Given the description of an element on the screen output the (x, y) to click on. 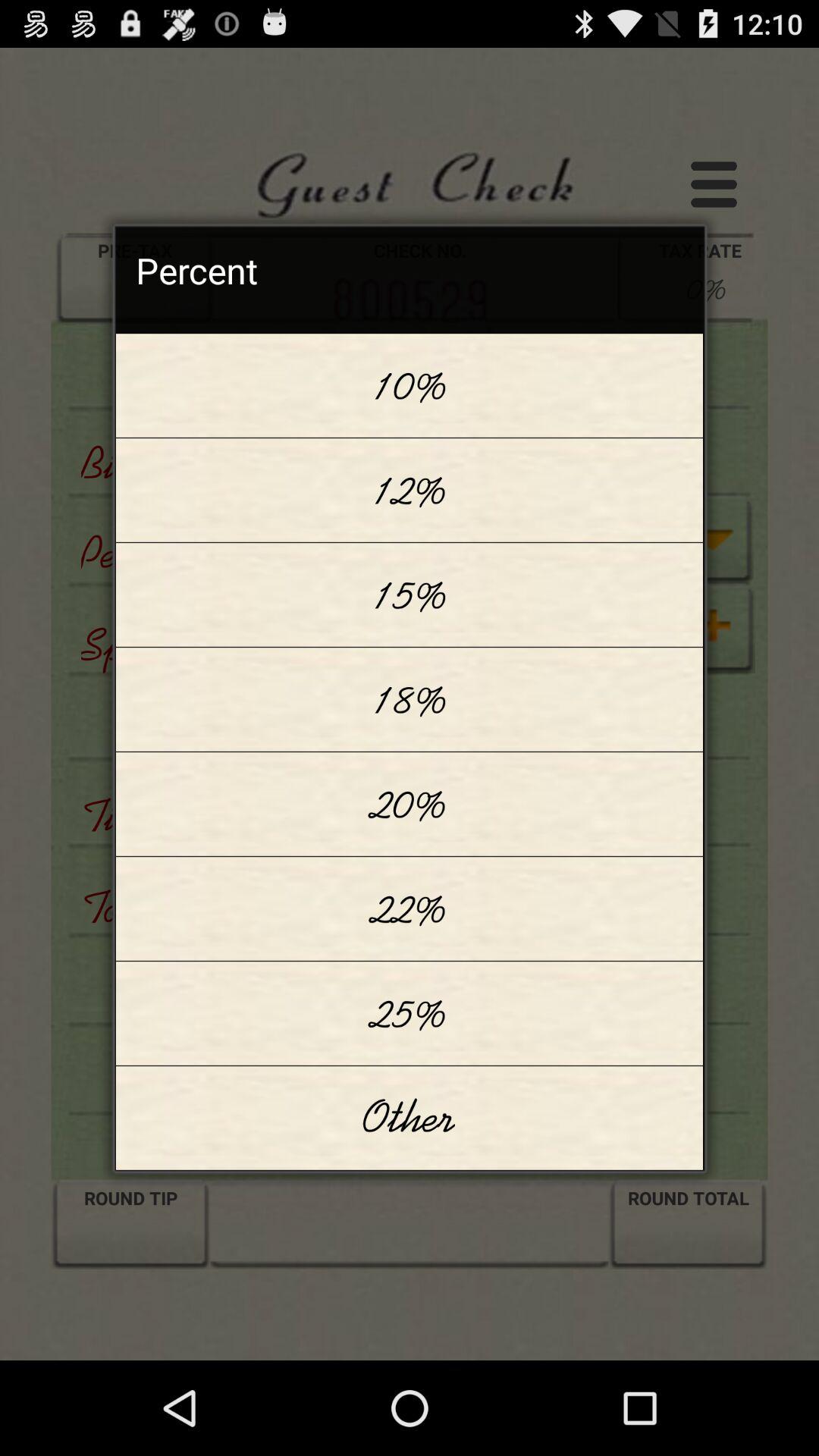
scroll to the 20% item (409, 803)
